Given the description of an element on the screen output the (x, y) to click on. 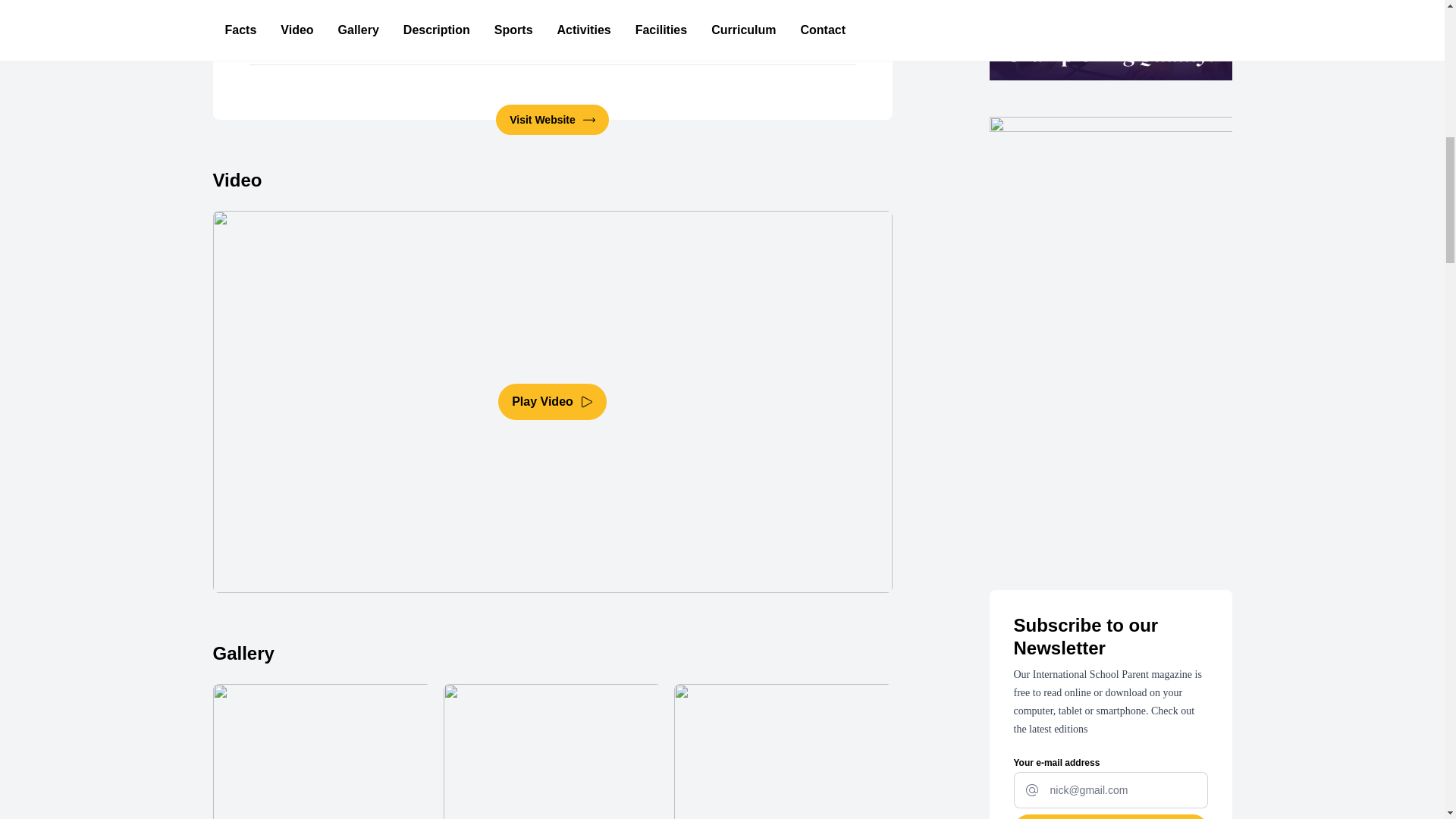
Play Video (552, 402)
www.swissinternationalschool.ch (757, 45)
Gallery (551, 730)
Subscribe (1110, 816)
Subscribe (1110, 816)
